Given the description of an element on the screen output the (x, y) to click on. 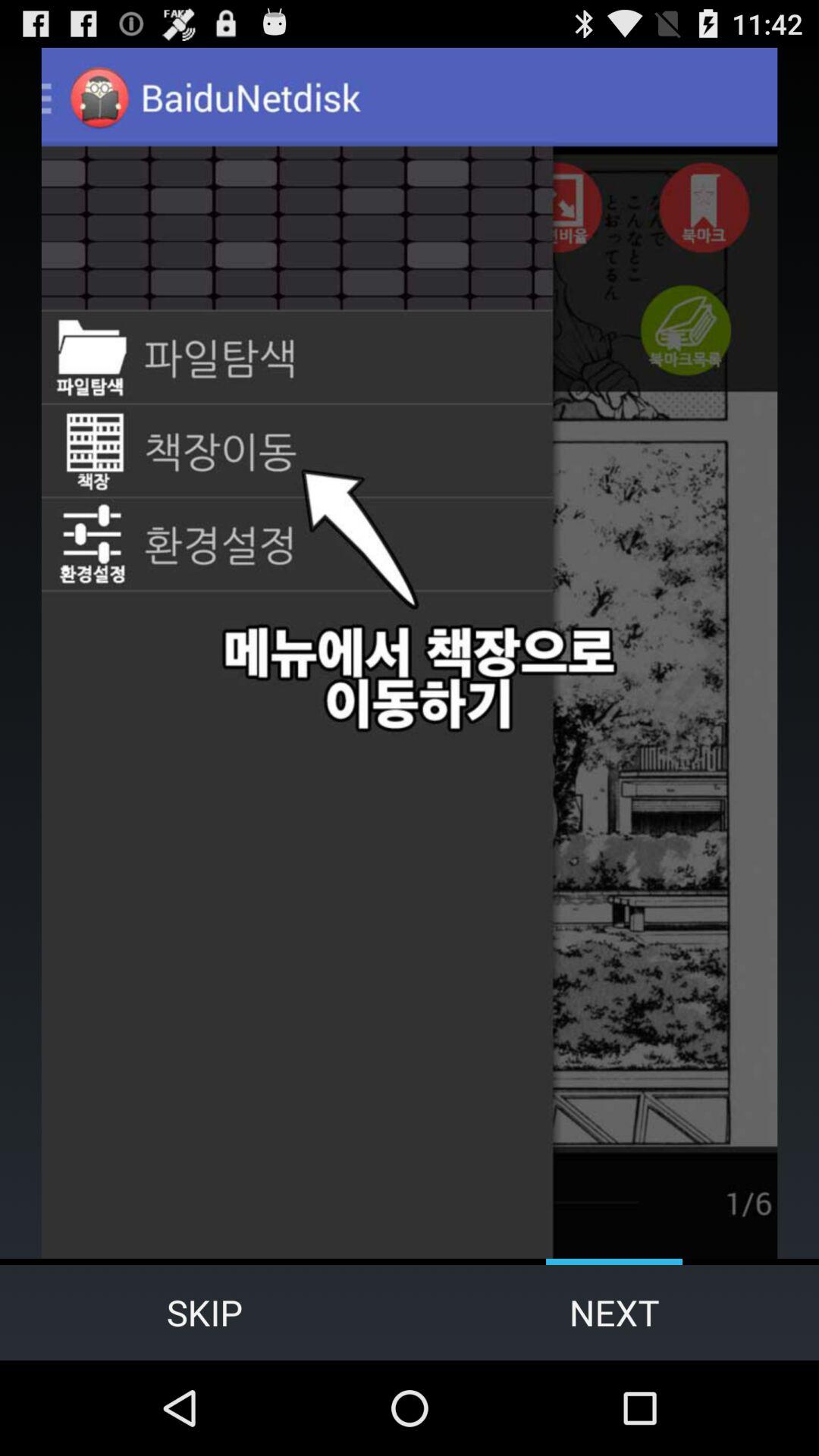
launch next button (614, 1312)
